Given the description of an element on the screen output the (x, y) to click on. 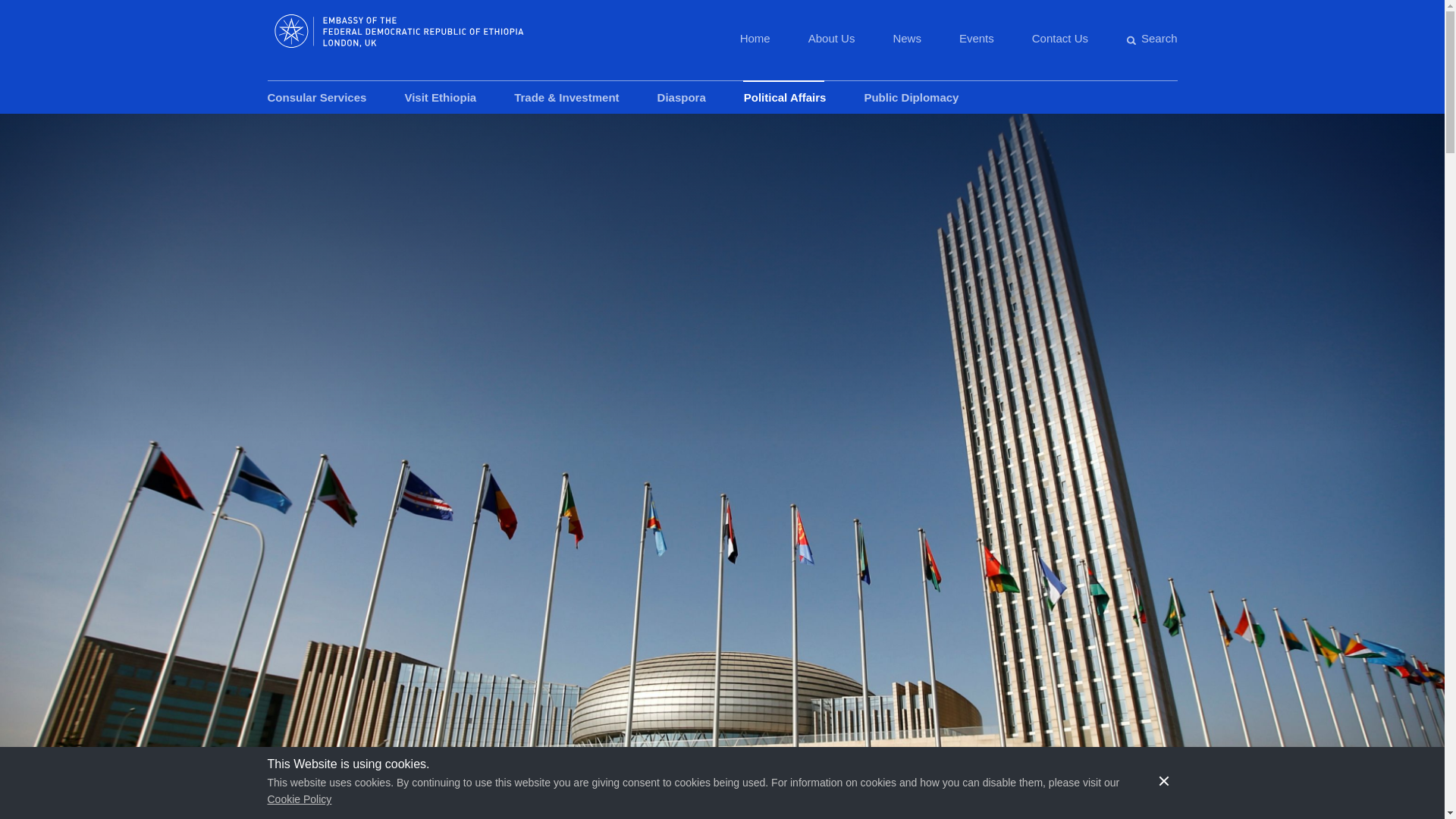
Diaspora (682, 101)
Public Diplomacy (910, 101)
Consular Services (316, 101)
News (906, 38)
Home (754, 38)
Political Affairs (785, 101)
Events (976, 38)
Search (1151, 38)
Contact Us (1059, 38)
About Us (832, 38)
